Given the description of an element on the screen output the (x, y) to click on. 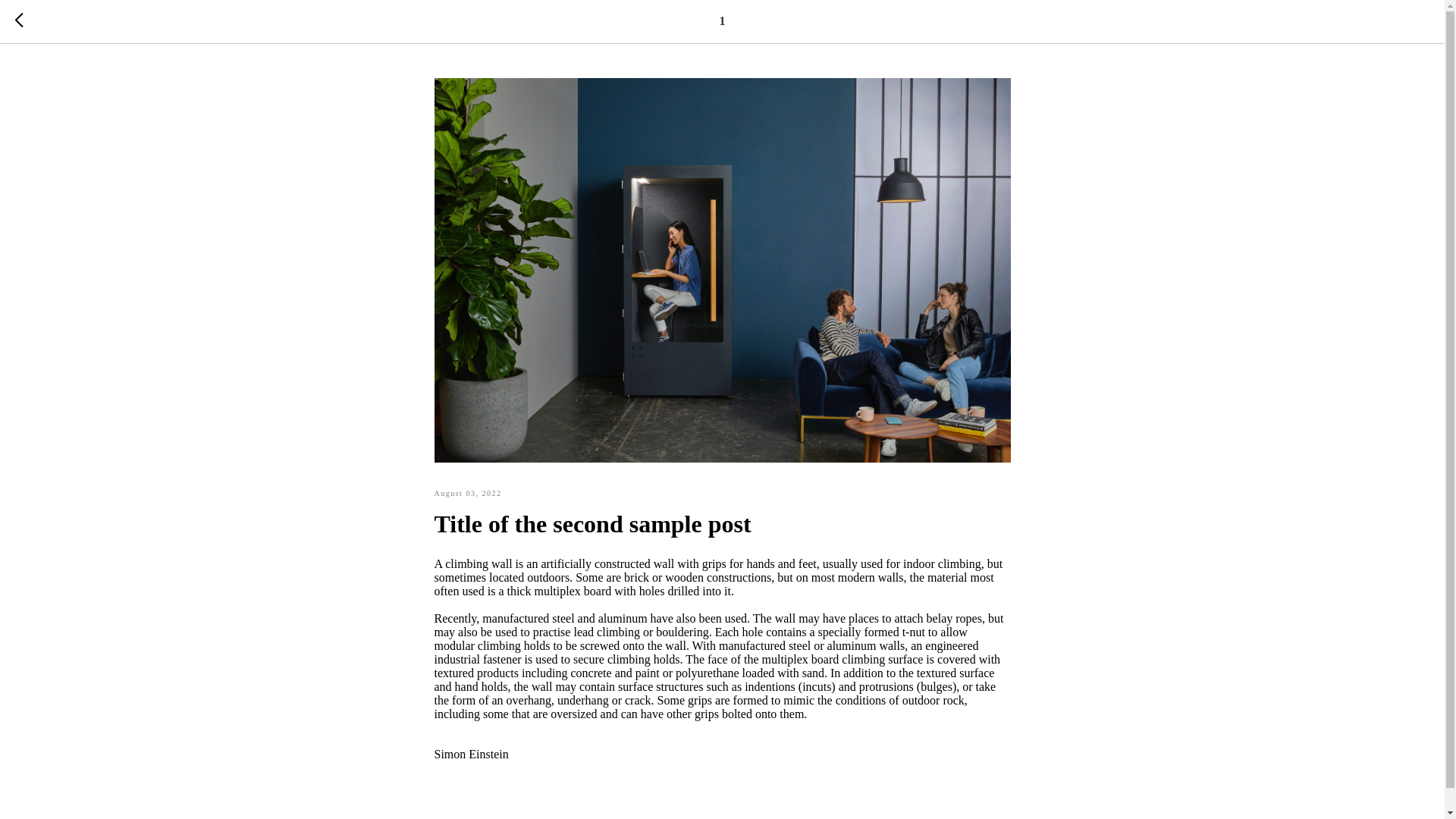
Simon Einstein Element type: text (721, 754)
